Given the description of an element on the screen output the (x, y) to click on. 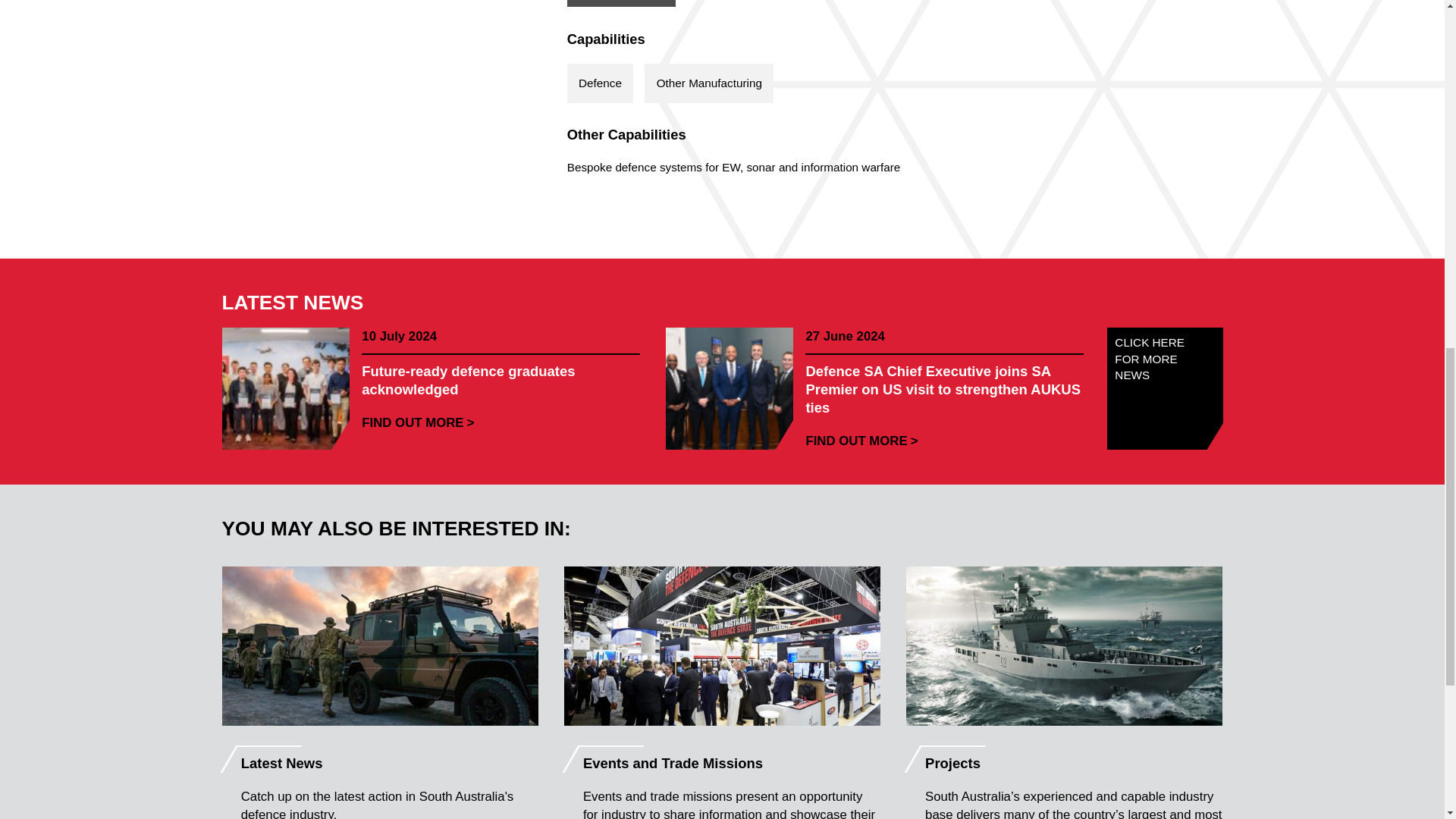
Visit careers page (621, 3)
